Given the description of an element on the screen output the (x, y) to click on. 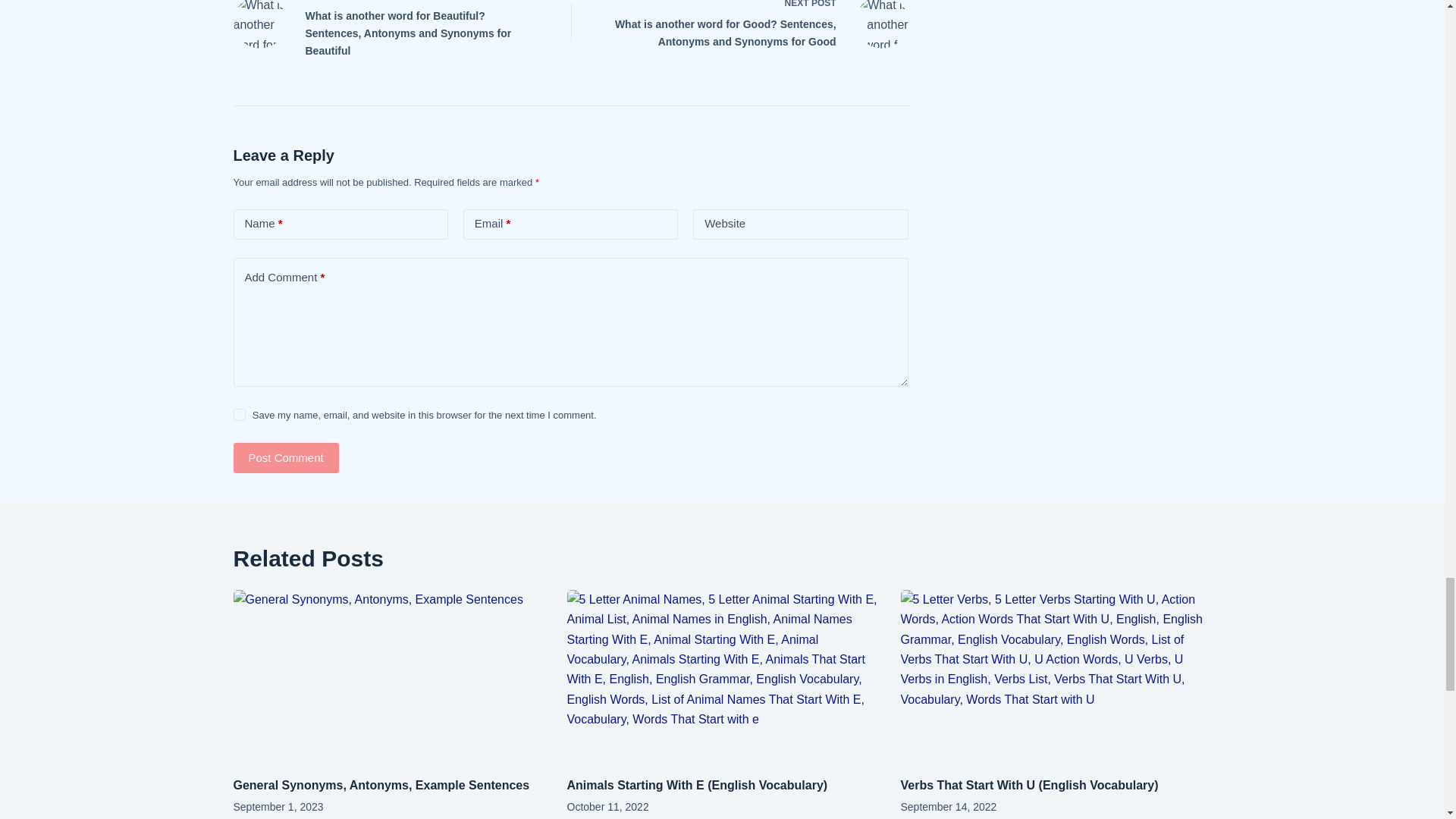
yes (239, 413)
